Given the description of an element on the screen output the (x, y) to click on. 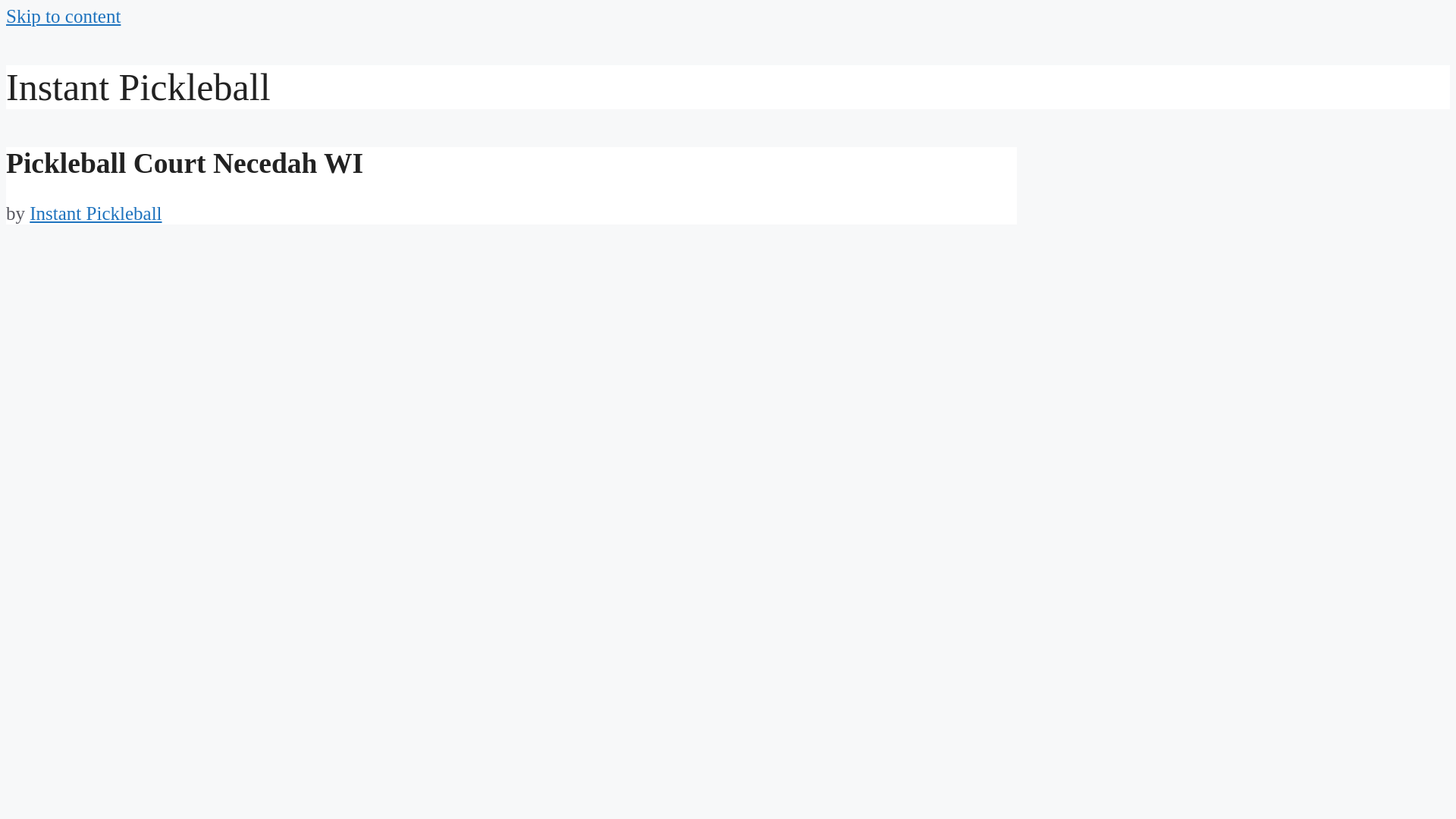
Skip to content (62, 15)
Instant Pickleball (137, 87)
Skip to content (62, 15)
